Given the description of an element on the screen output the (x, y) to click on. 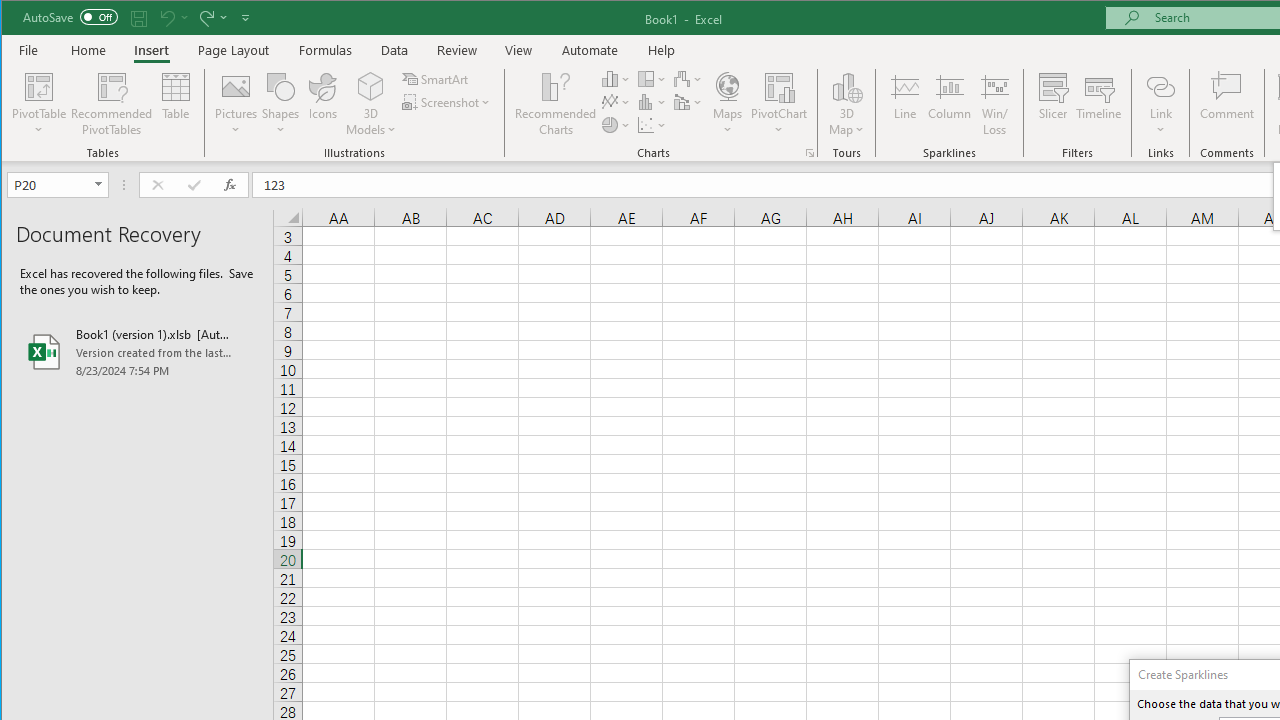
Column (949, 104)
Win/Loss (995, 104)
Insert Statistic Chart (652, 101)
Recommended Charts (809, 152)
PivotTable (39, 86)
3D Models (371, 104)
Shapes (280, 104)
Link (1160, 86)
AutoSave (70, 16)
Insert Scatter (X, Y) or Bubble Chart (652, 124)
